Given the description of an element on the screen output the (x, y) to click on. 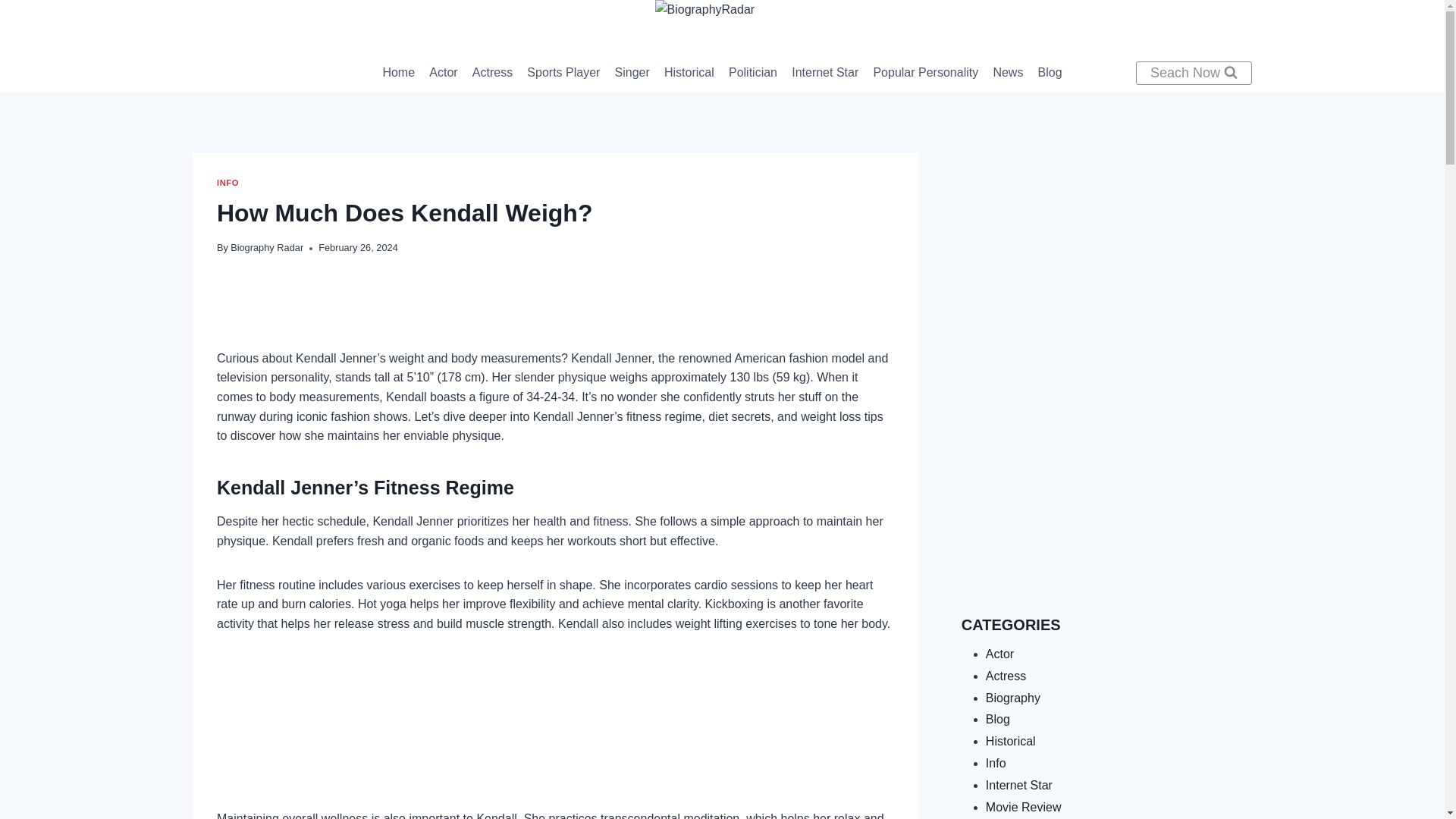
Sports Player (563, 72)
News (1007, 72)
Politician (752, 72)
Historical (688, 72)
Actress (491, 72)
Blog (1049, 72)
INFO (227, 182)
Actor (443, 72)
Singer (631, 72)
Home (398, 72)
